Given the description of an element on the screen output the (x, y) to click on. 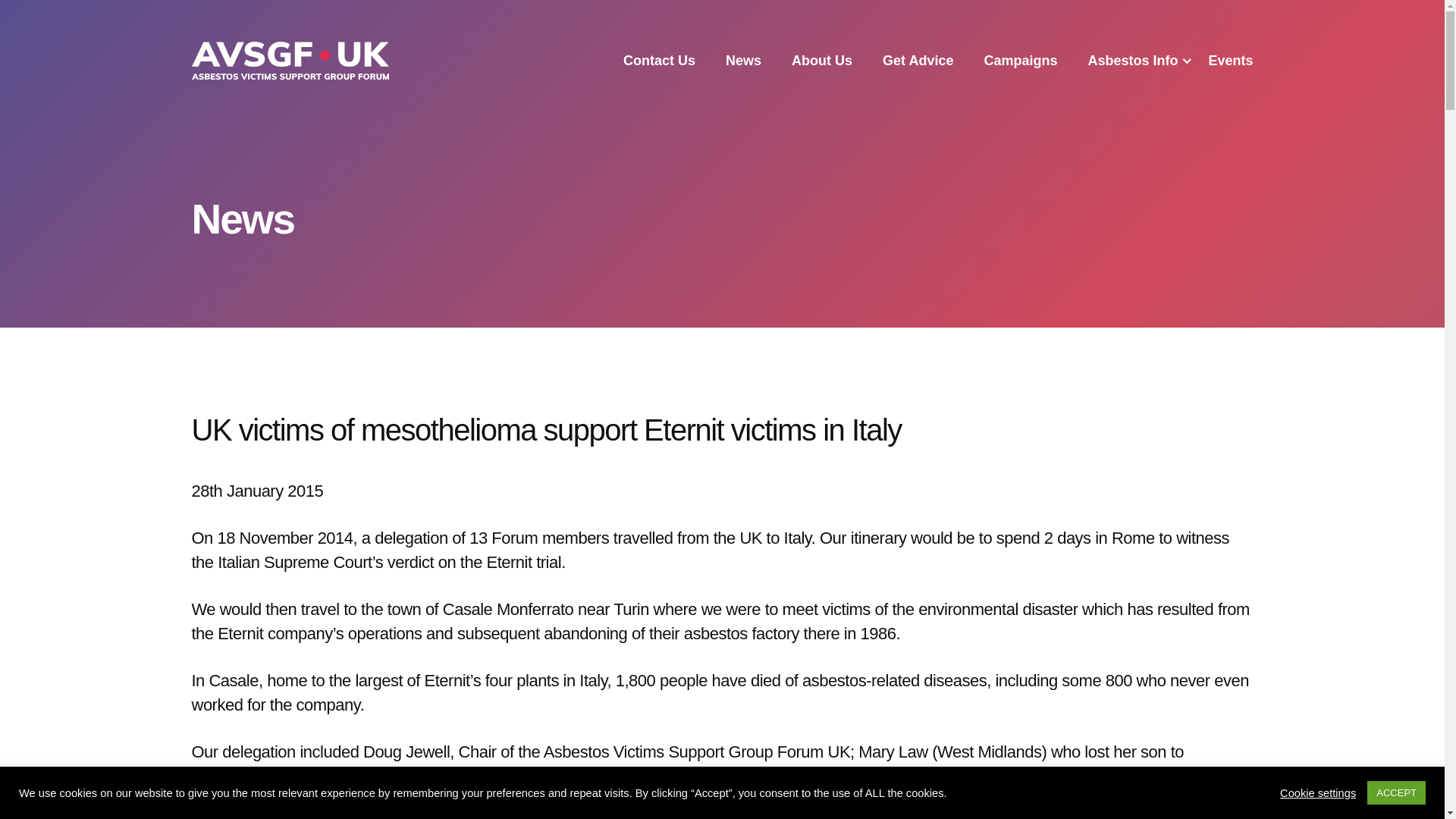
ACCEPT (1396, 792)
Campaigns (1020, 60)
Cookie settings (1317, 792)
Events (1230, 60)
Get Advice (917, 60)
About Us (821, 60)
Contact Us (659, 60)
Asbestos Info (1132, 60)
News (743, 60)
